Given the description of an element on the screen output the (x, y) to click on. 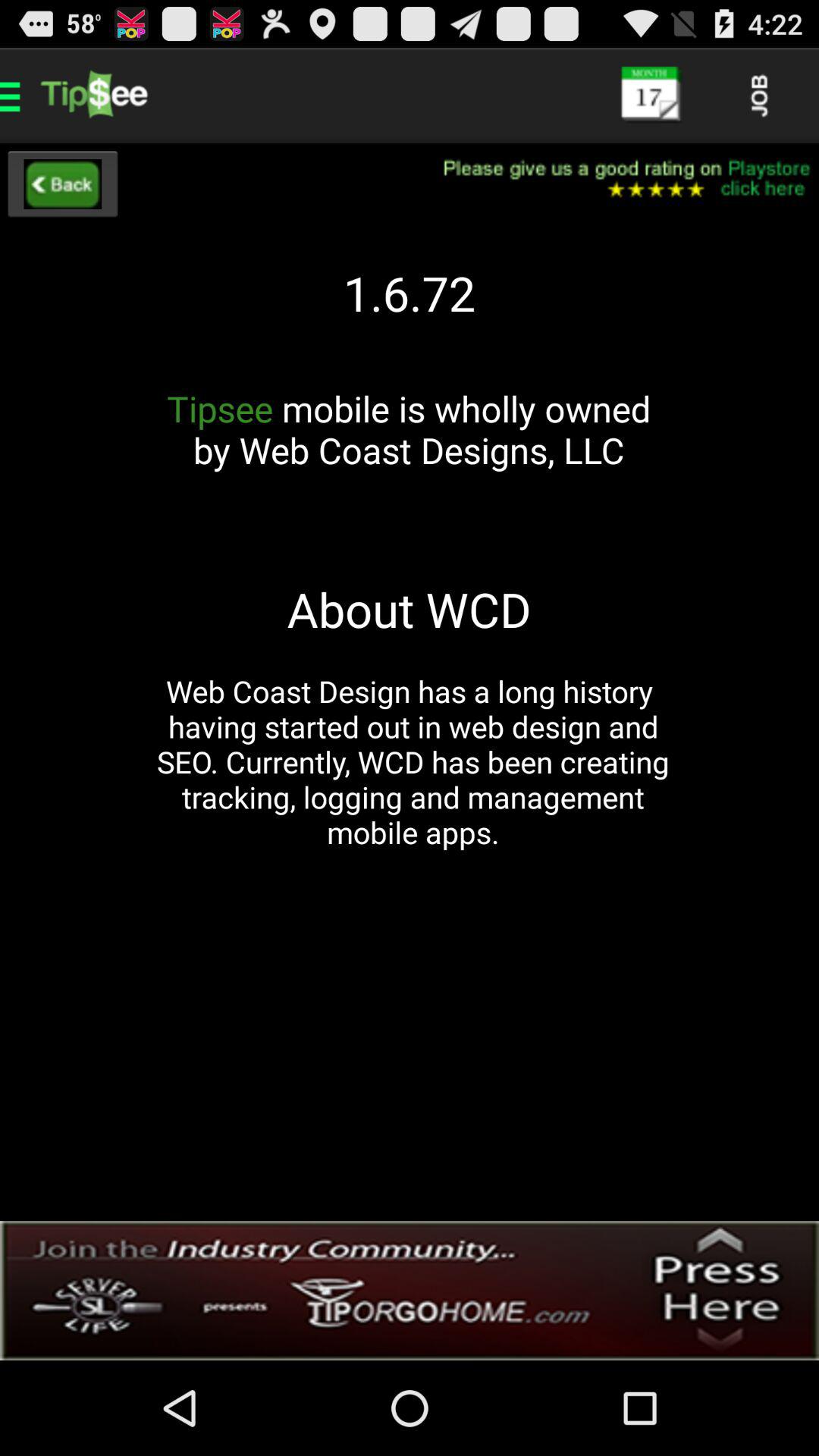
open advertisement (409, 1290)
